Given the description of an element on the screen output the (x, y) to click on. 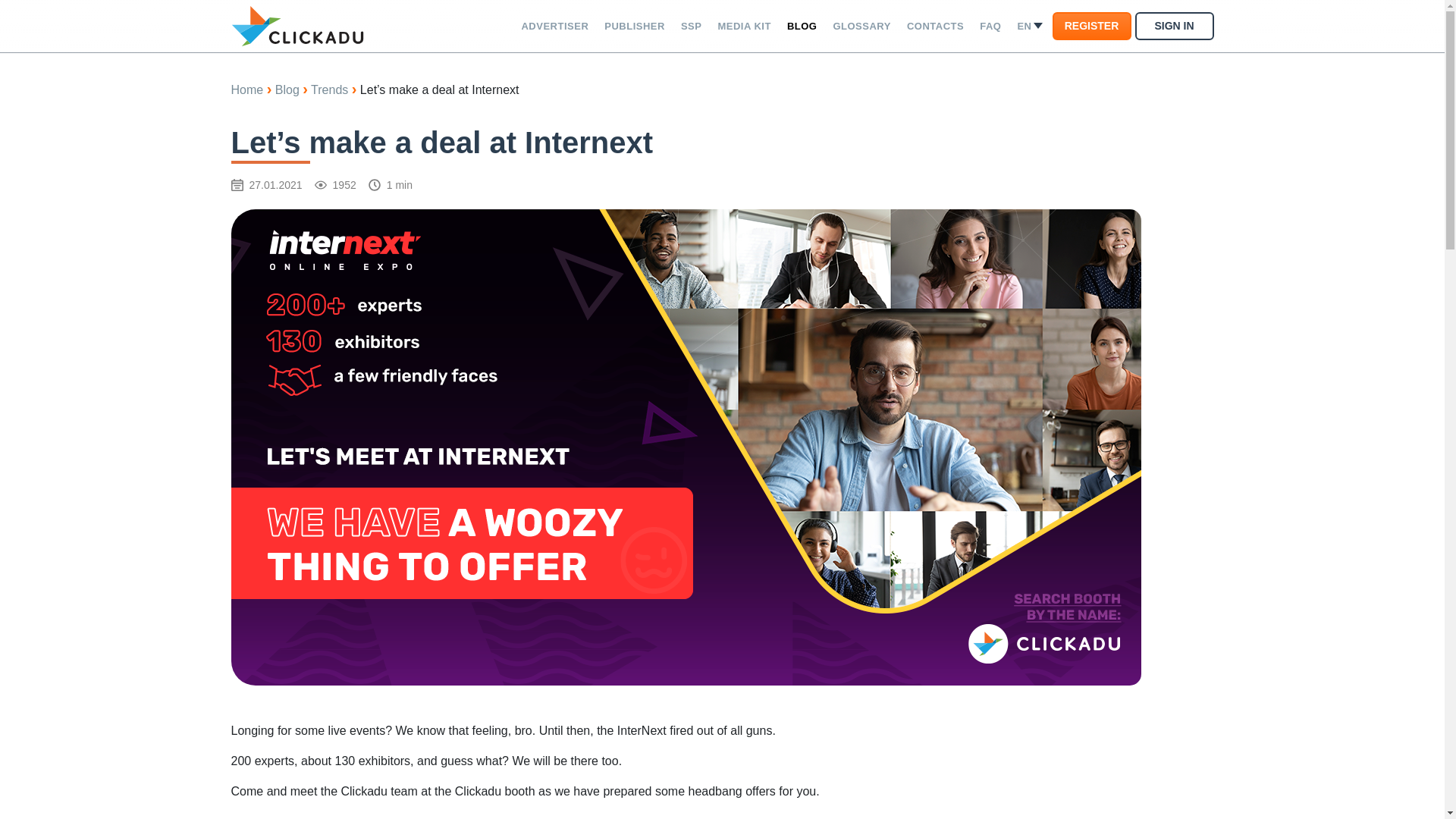
MEDIA KIT (743, 25)
CONTACTS (935, 25)
PUBLISHER (634, 25)
Trends (329, 89)
REGISTER (1091, 26)
FAQ (990, 25)
Blog (287, 89)
BLOG (802, 25)
SSP (691, 25)
Home (246, 89)
ADVERTISER (554, 25)
SIGN IN (1173, 26)
GLOSSARY (861, 25)
EN (1029, 25)
